Given the description of an element on the screen output the (x, y) to click on. 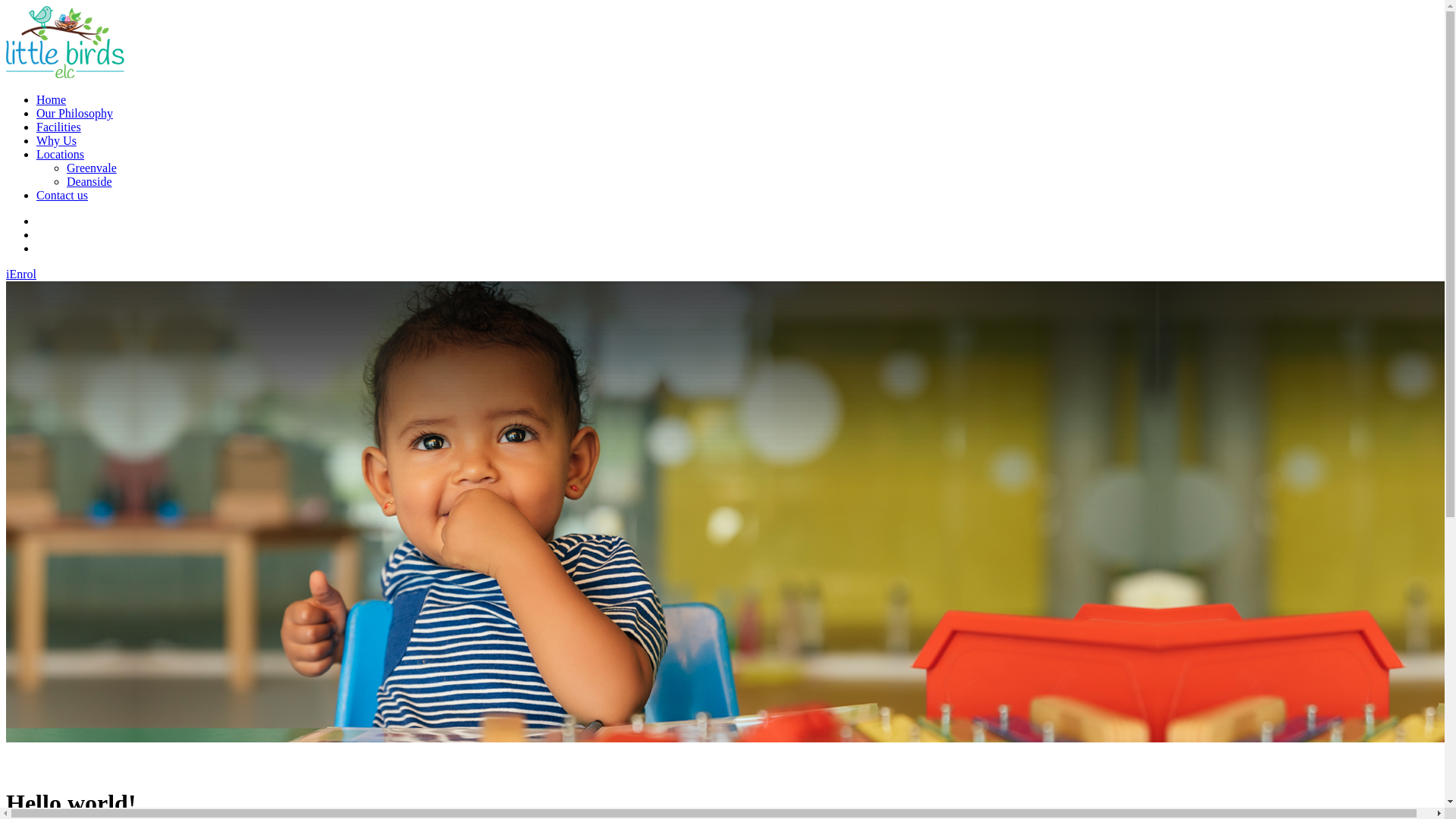
Home Element type: text (50, 99)
iEnrol Element type: text (21, 273)
Why Us Element type: text (56, 140)
Greenvale Element type: text (91, 167)
Locations Element type: text (60, 153)
Contact us Element type: text (61, 194)
Deanside Element type: text (89, 181)
Our Philosophy Element type: text (74, 112)
Facilities Element type: text (58, 126)
